Given the description of an element on the screen output the (x, y) to click on. 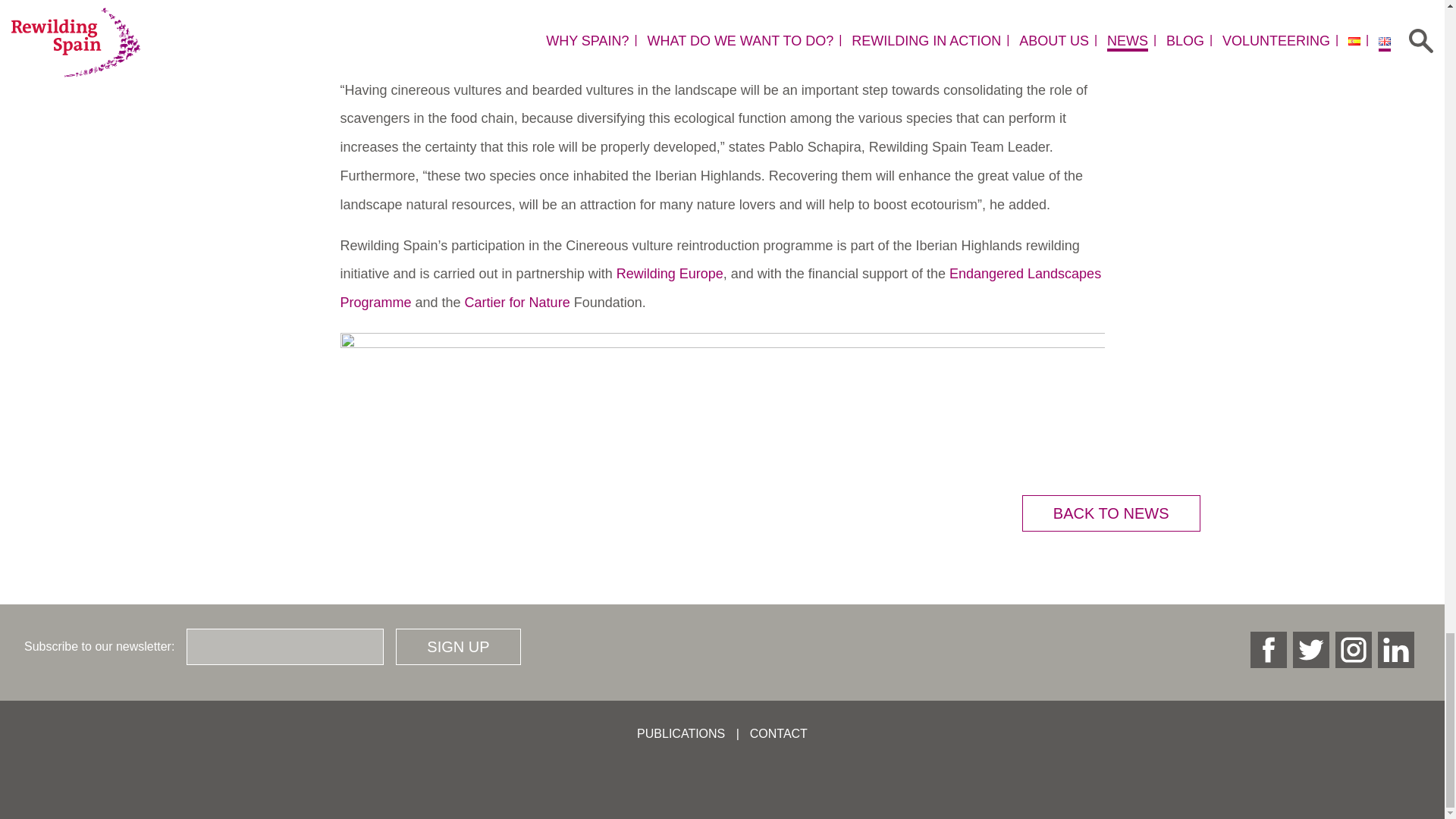
Sign up (457, 646)
Endangered Landscapes Programme (719, 288)
Sign up (457, 646)
BACK TO NEWS (1110, 513)
CONTACT (778, 733)
Rewilding Europe (669, 273)
Cartier for Nature (517, 302)
PUBLICATIONS (681, 733)
